Given the description of an element on the screen output the (x, y) to click on. 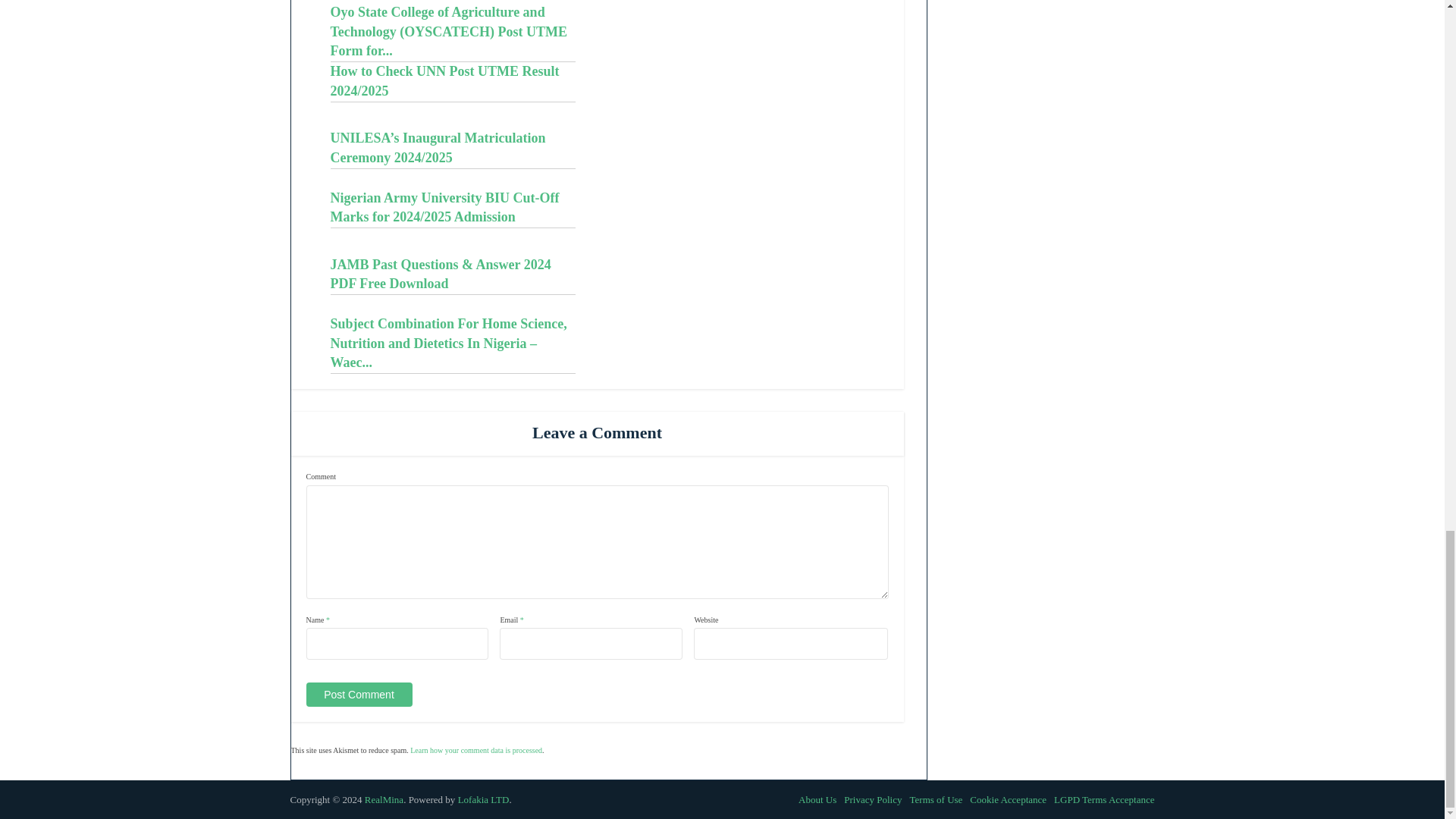
Learn how your comment data is processed (475, 750)
Post Comment (358, 694)
Post Comment (358, 694)
